Given the description of an element on the screen output the (x, y) to click on. 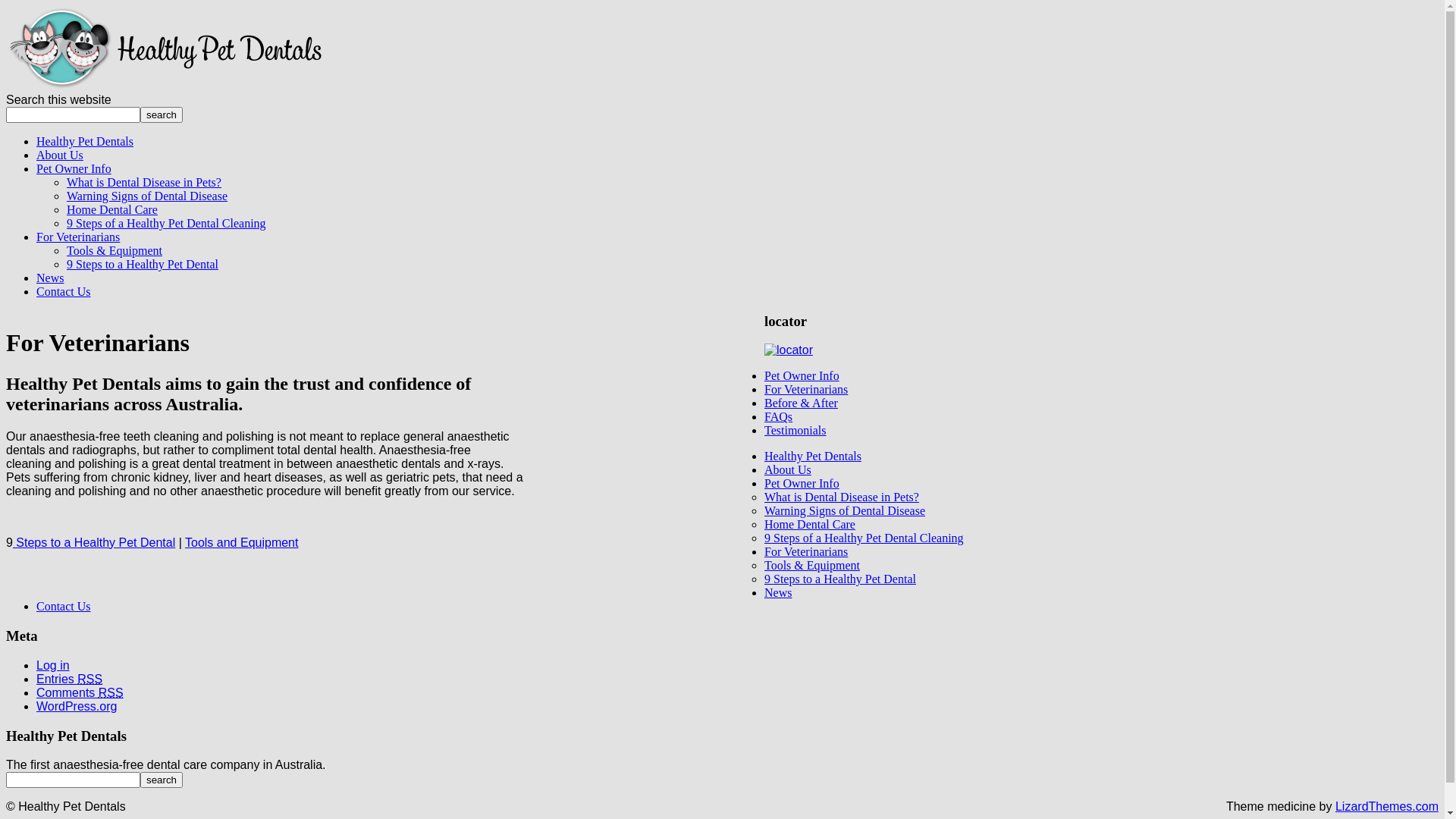
9 Steps to a Healthy Pet Dental Element type: text (840, 578)
Testimonials Element type: text (795, 429)
Pet Owner Info Element type: text (801, 482)
9 Steps to a Healthy Pet Dental Element type: text (142, 263)
Before & After Element type: text (800, 402)
Entries RSS Element type: text (69, 678)
Contact Us Element type: text (63, 291)
What is Dental Disease in Pets? Element type: text (143, 181)
News Element type: text (49, 277)
Healthy Pet Dentals Element type: hover (163, 85)
 Steps to a Healthy Pet Dental Element type: text (93, 541)
LizardThemes.com Element type: text (1386, 806)
FAQs Element type: text (778, 416)
Warning Signs of Dental Disease Element type: text (844, 510)
Pet Owner Info Element type: text (73, 168)
9 Steps of a Healthy Pet Dental Cleaning Element type: text (166, 222)
Tools & Equipment Element type: text (811, 564)
Healthy Pet Dentals Element type: text (812, 455)
Home Dental Care Element type: text (111, 209)
Contact Us Element type: text (63, 605)
For Veterinarians Element type: text (77, 236)
search Element type: text (161, 779)
News Element type: text (777, 592)
Pet Owner Info Element type: text (801, 375)
WordPress.org Element type: text (76, 705)
search Element type: text (161, 114)
Warning Signs of Dental Disease Element type: text (146, 195)
About Us Element type: text (59, 154)
For Veterinarians Element type: text (805, 388)
locator Element type: hover (788, 349)
Log in Element type: text (52, 664)
About Us Element type: text (787, 469)
What is Dental Disease in Pets? Element type: text (841, 496)
Tools and Equipment Element type: text (241, 541)
9 Steps of a Healthy Pet Dental Cleaning Element type: text (863, 537)
Healthy Pet Dentals Element type: text (84, 140)
Home Dental Care Element type: text (809, 523)
Comments RSS Element type: text (79, 692)
Tools & Equipment Element type: text (114, 250)
For Veterinarians Element type: text (805, 551)
